Given the description of an element on the screen output the (x, y) to click on. 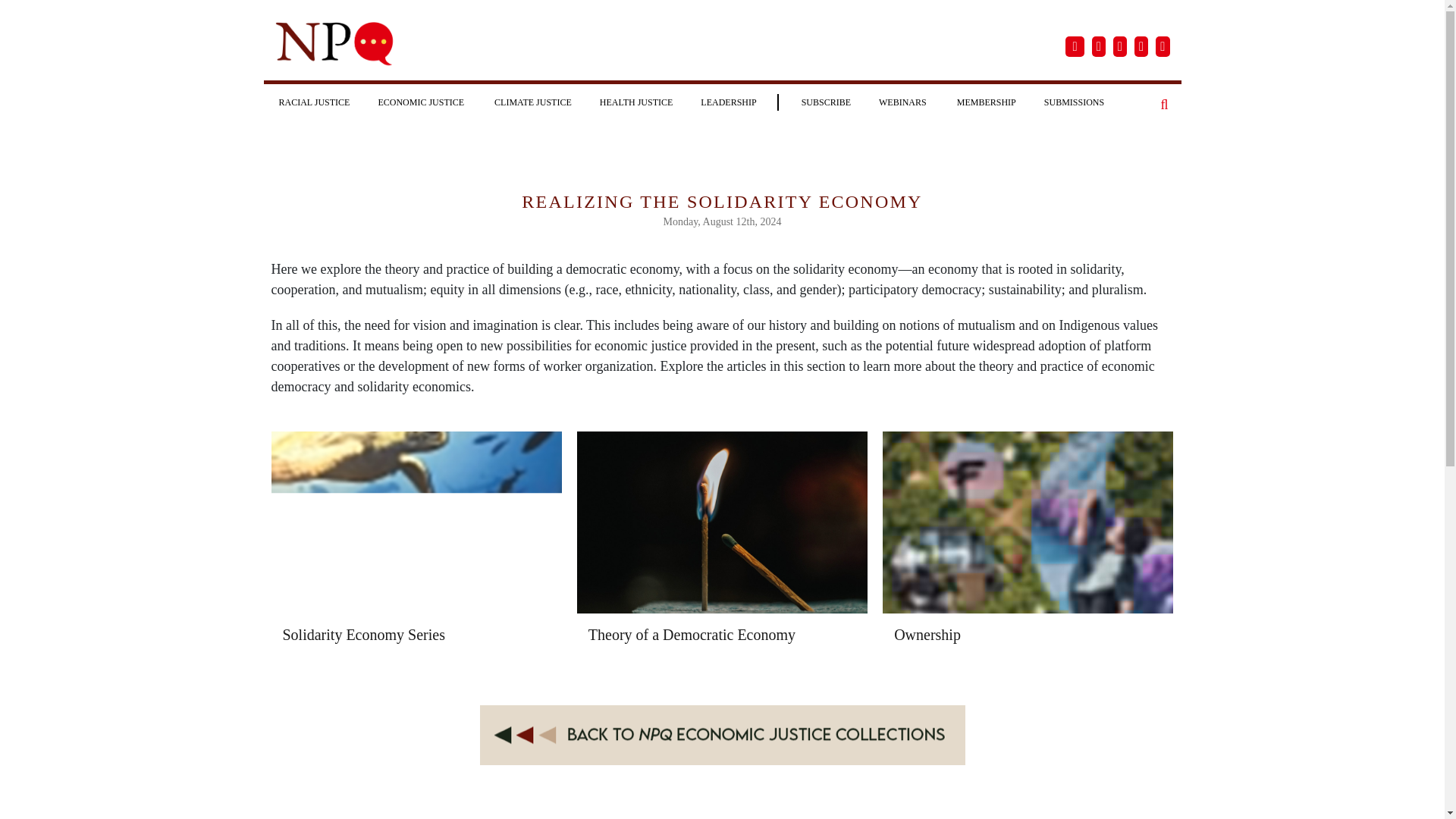
Economic Justice (421, 102)
CLIMATE JUSTICE (532, 102)
Climate Justice (532, 102)
Webinars (903, 102)
HEALTH JUSTICE (636, 102)
Leadership (727, 102)
Membership (986, 102)
Search (1164, 104)
SUBSCRIBE (826, 102)
Ownership (926, 634)
